Given the description of an element on the screen output the (x, y) to click on. 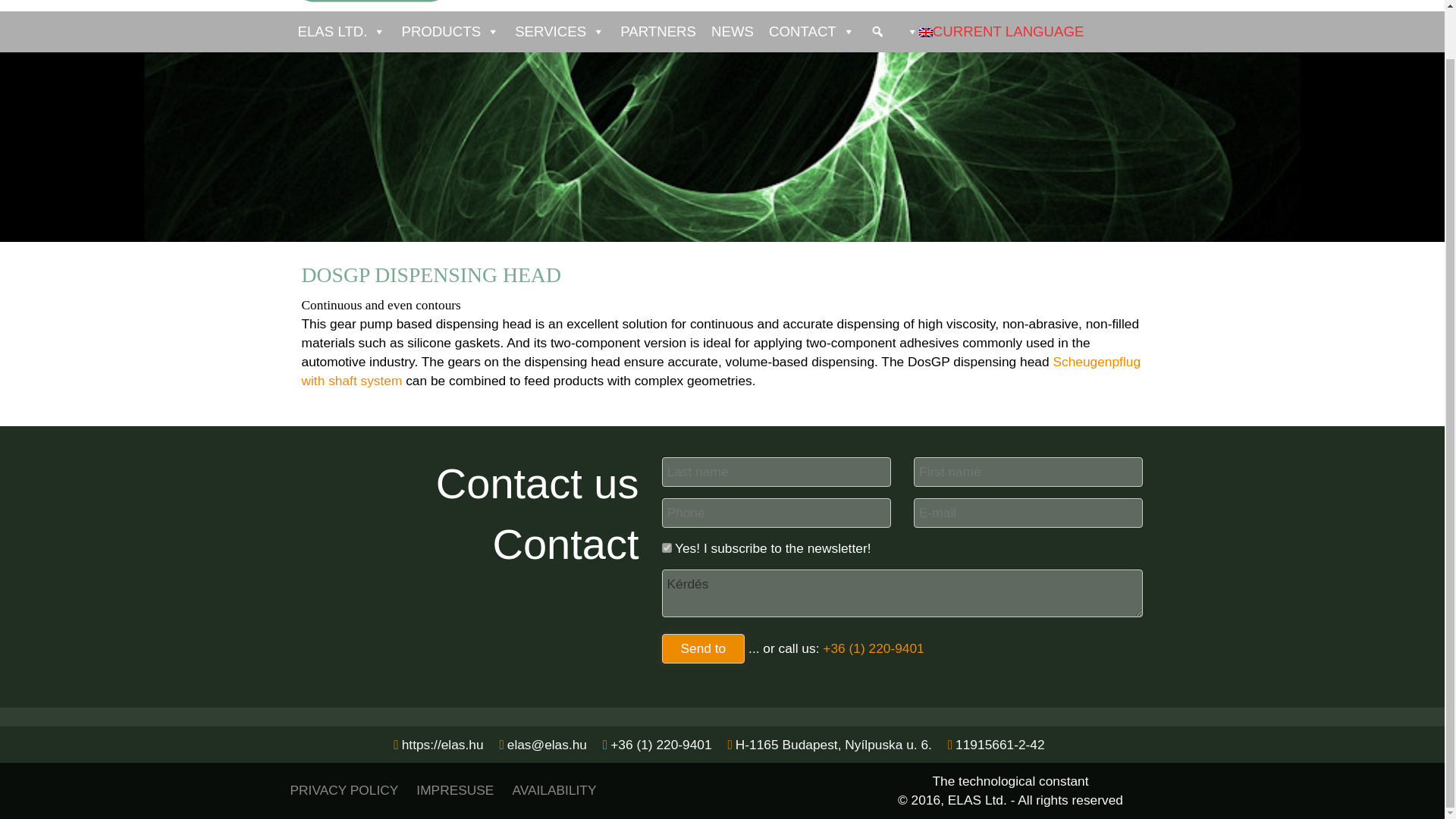
0 (666, 547)
Current Language (925, 31)
PRODUCTS (449, 31)
Send to (702, 648)
ELAS LTD. (341, 31)
